Given the description of an element on the screen output the (x, y) to click on. 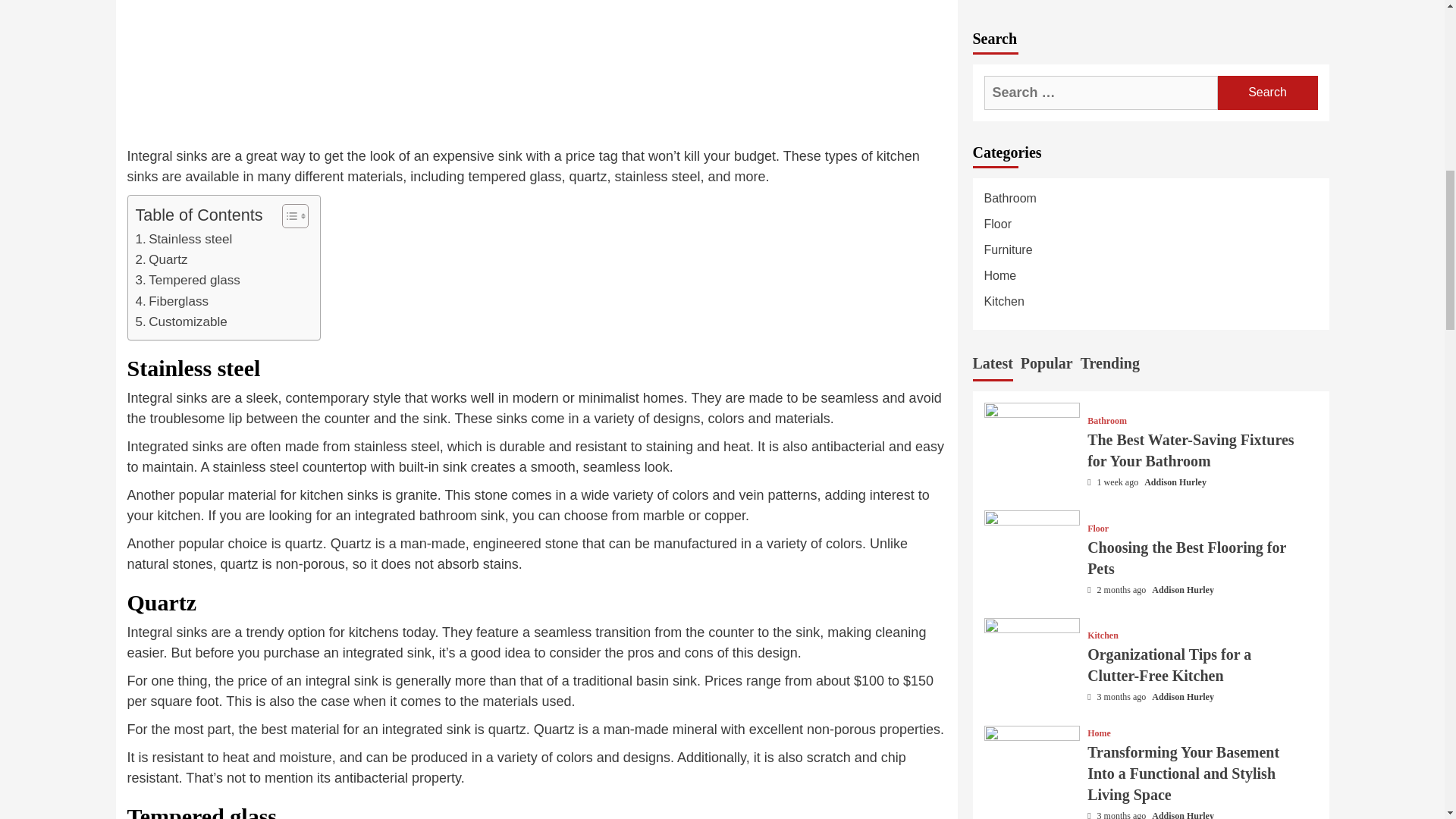
Fiberglass (171, 301)
Customizable (181, 322)
Quartz (161, 259)
Fiberglass (171, 301)
Customizable (181, 322)
Tempered glass (187, 280)
Stainless steel (183, 239)
Quartz (161, 259)
Stainless steel (183, 239)
Tempered glass (187, 280)
